Given the description of an element on the screen output the (x, y) to click on. 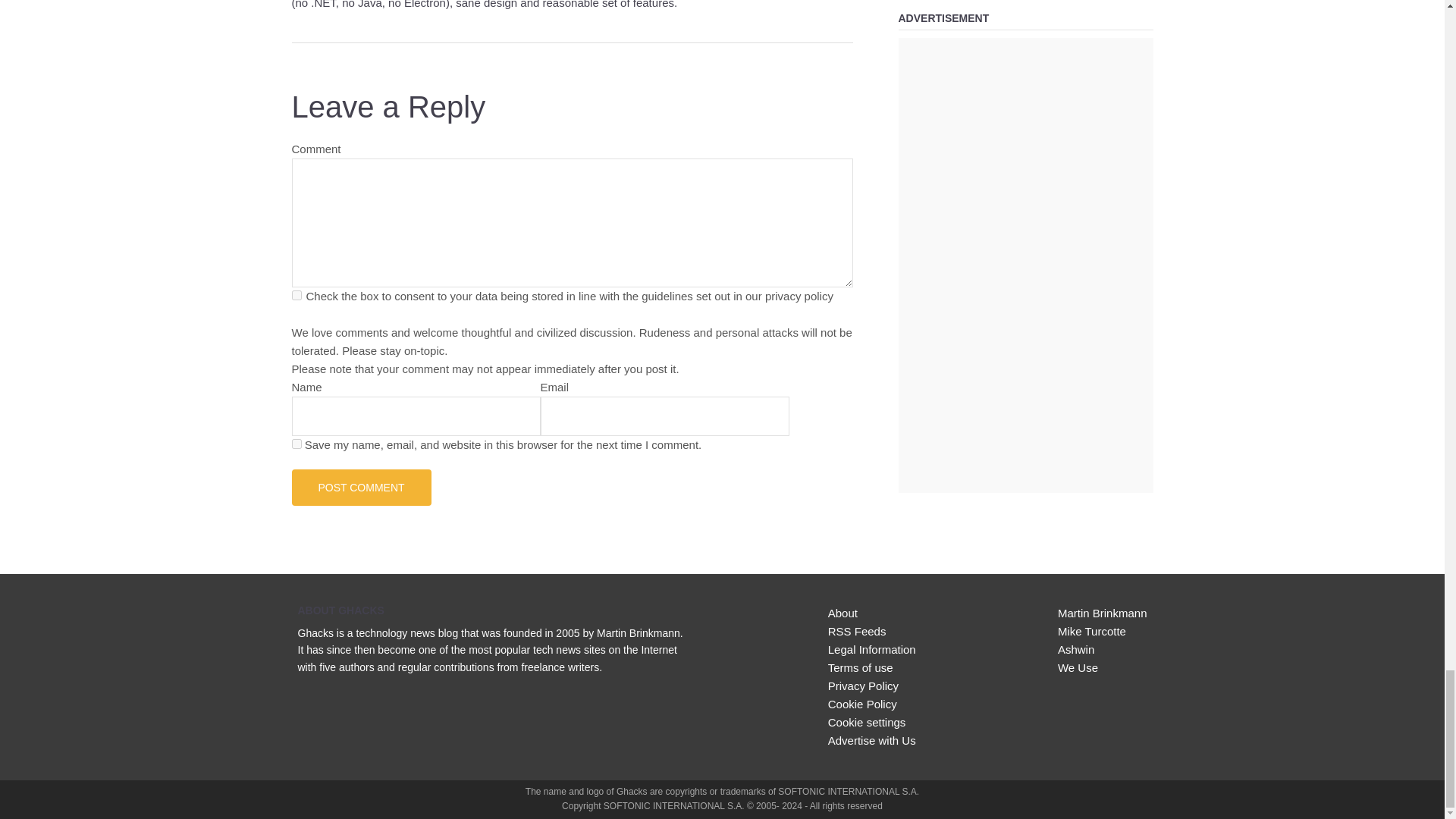
Post Comment (360, 487)
privacy-key (296, 295)
yes (296, 443)
